Given the description of an element on the screen output the (x, y) to click on. 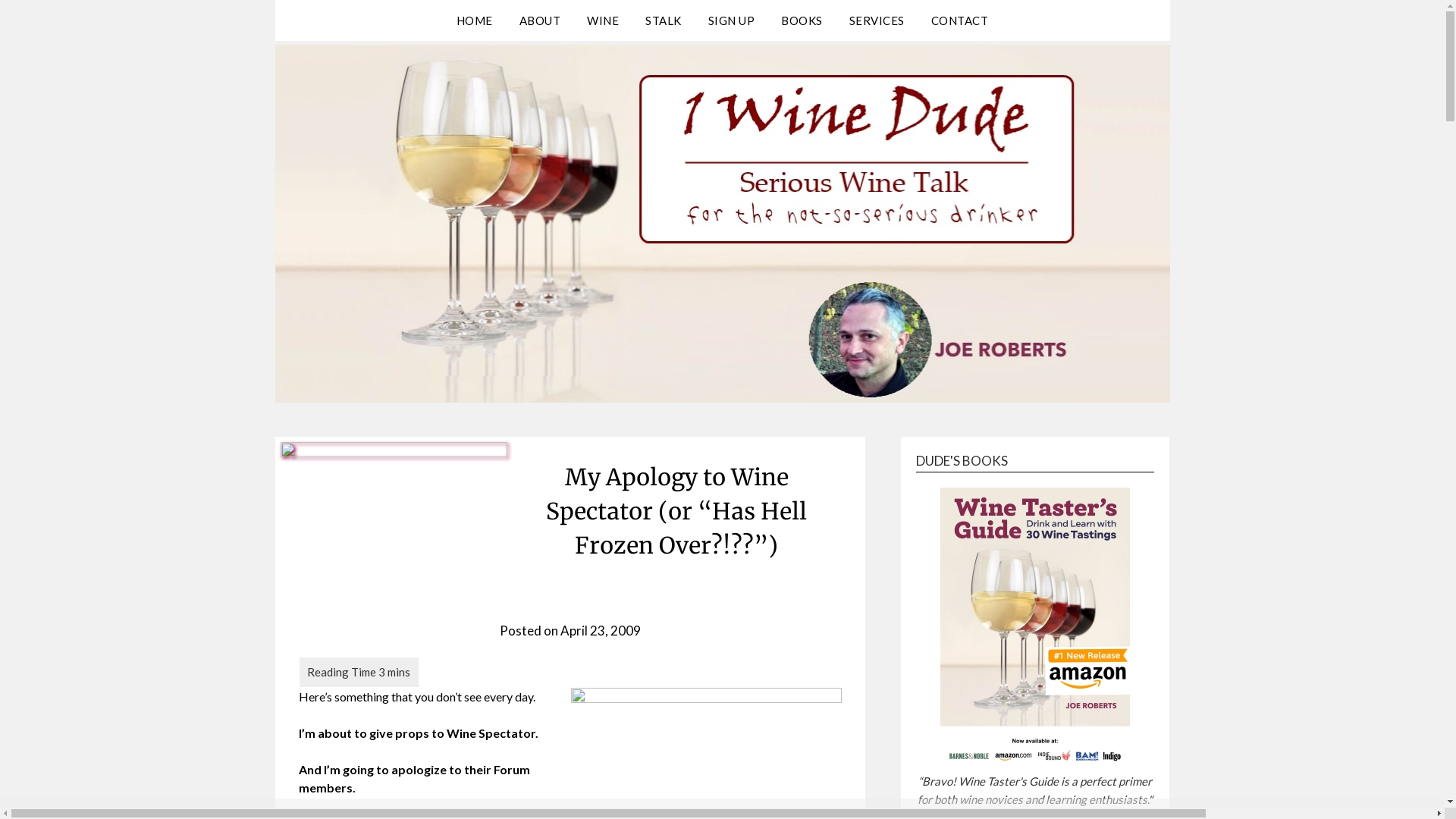
SIGN UP Element type: text (731, 20)
CONTACT Element type: text (960, 20)
STALK Element type: text (663, 20)
1 Wine Dude Element type: text (383, 53)
HOME Element type: text (474, 20)
April 23, 2009 Element type: text (600, 630)
WINE Element type: text (602, 20)
ABOUT Element type: text (540, 20)
SERVICES Element type: text (876, 20)
BOOKS Element type: text (801, 20)
